Given the description of an element on the screen output the (x, y) to click on. 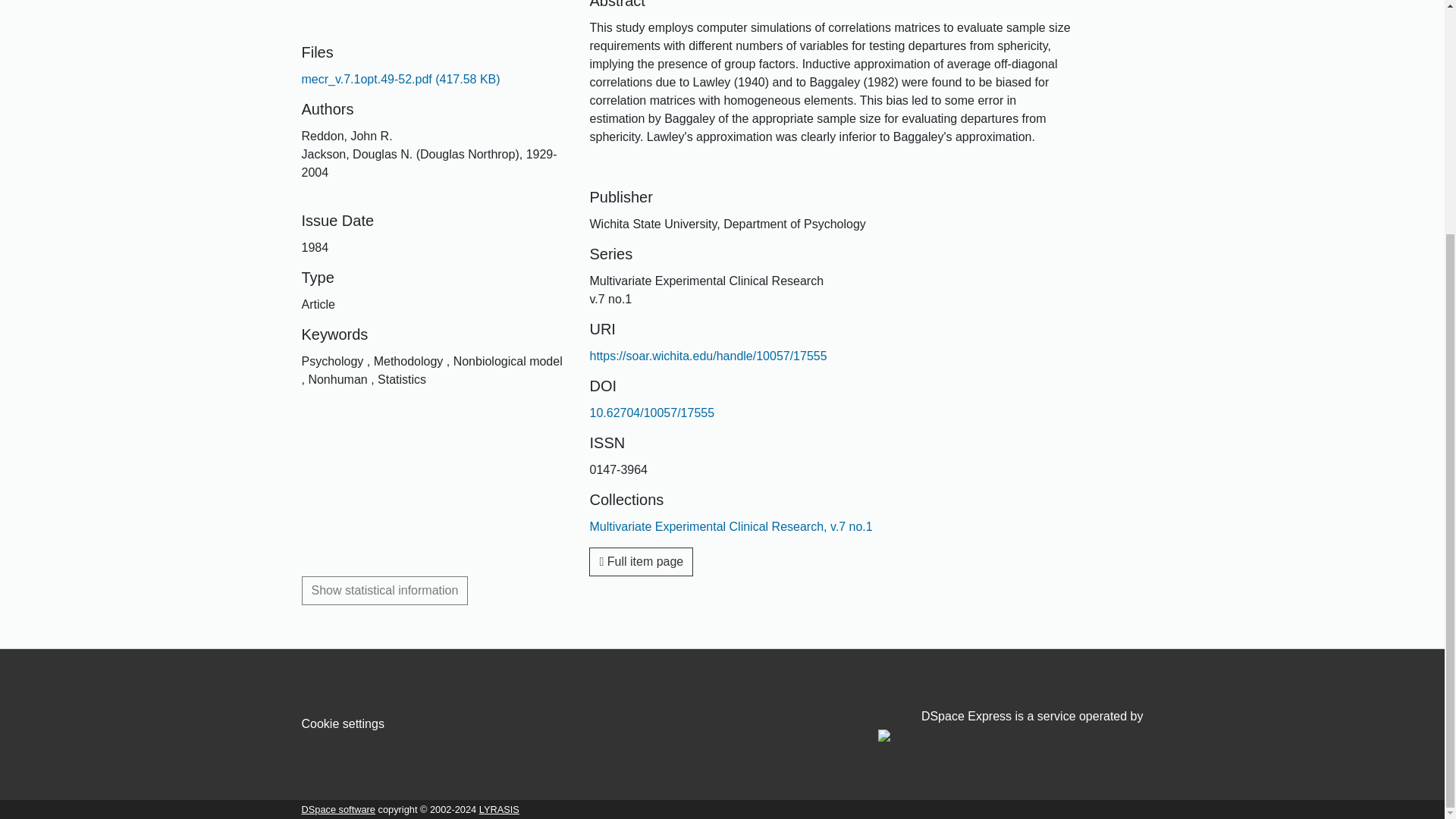
Cookie settings (342, 723)
DSpace Express is a service operated by (1009, 726)
Full item page (641, 561)
Multivariate Experimental Clinical Research, v.7 no.1 (730, 526)
DSpace software (338, 808)
LYRASIS (499, 808)
Show statistical information (384, 590)
